Given the description of an element on the screen output the (x, y) to click on. 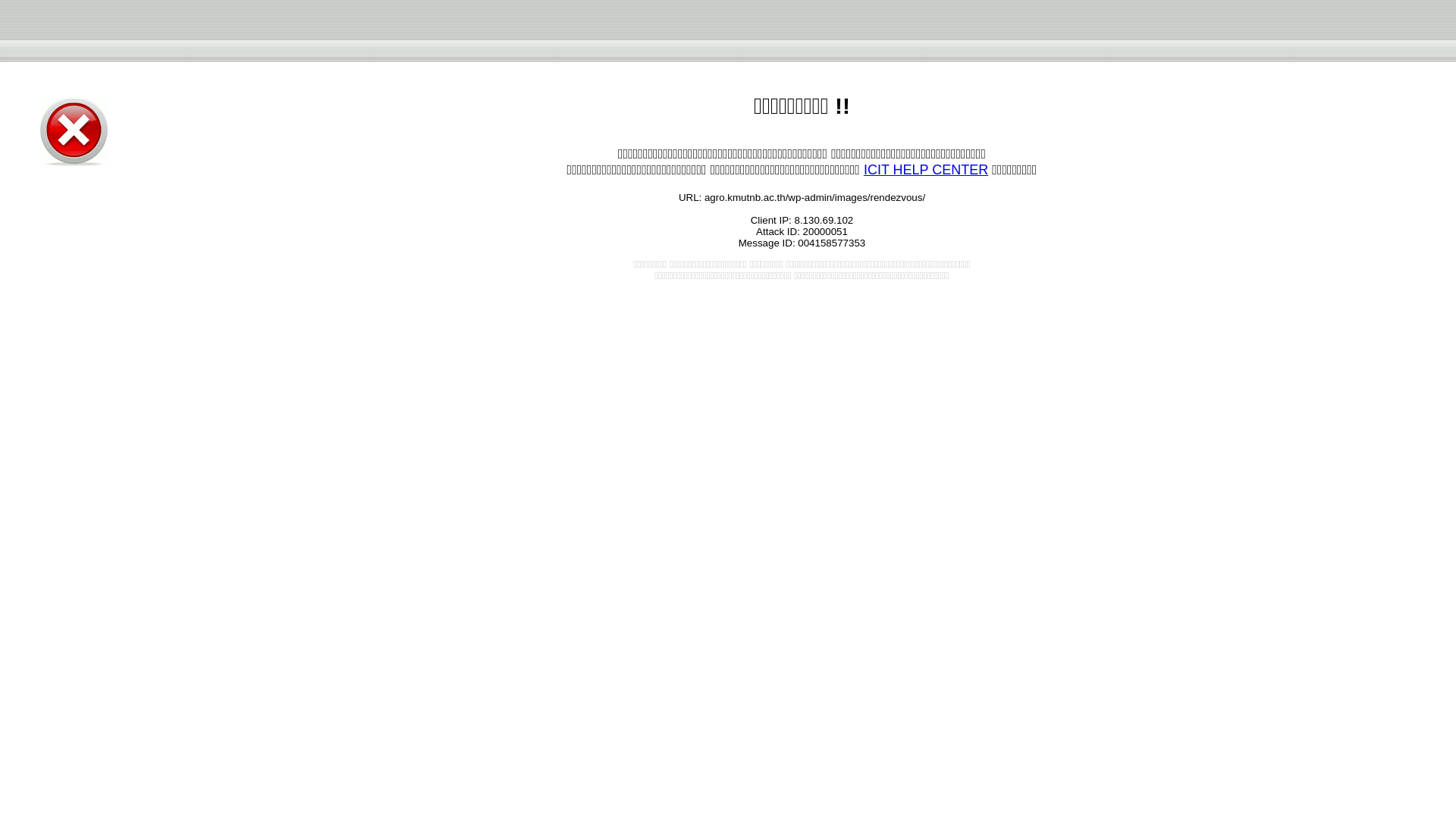
ICIT HELP CENTER (925, 169)
